Given the description of an element on the screen output the (x, y) to click on. 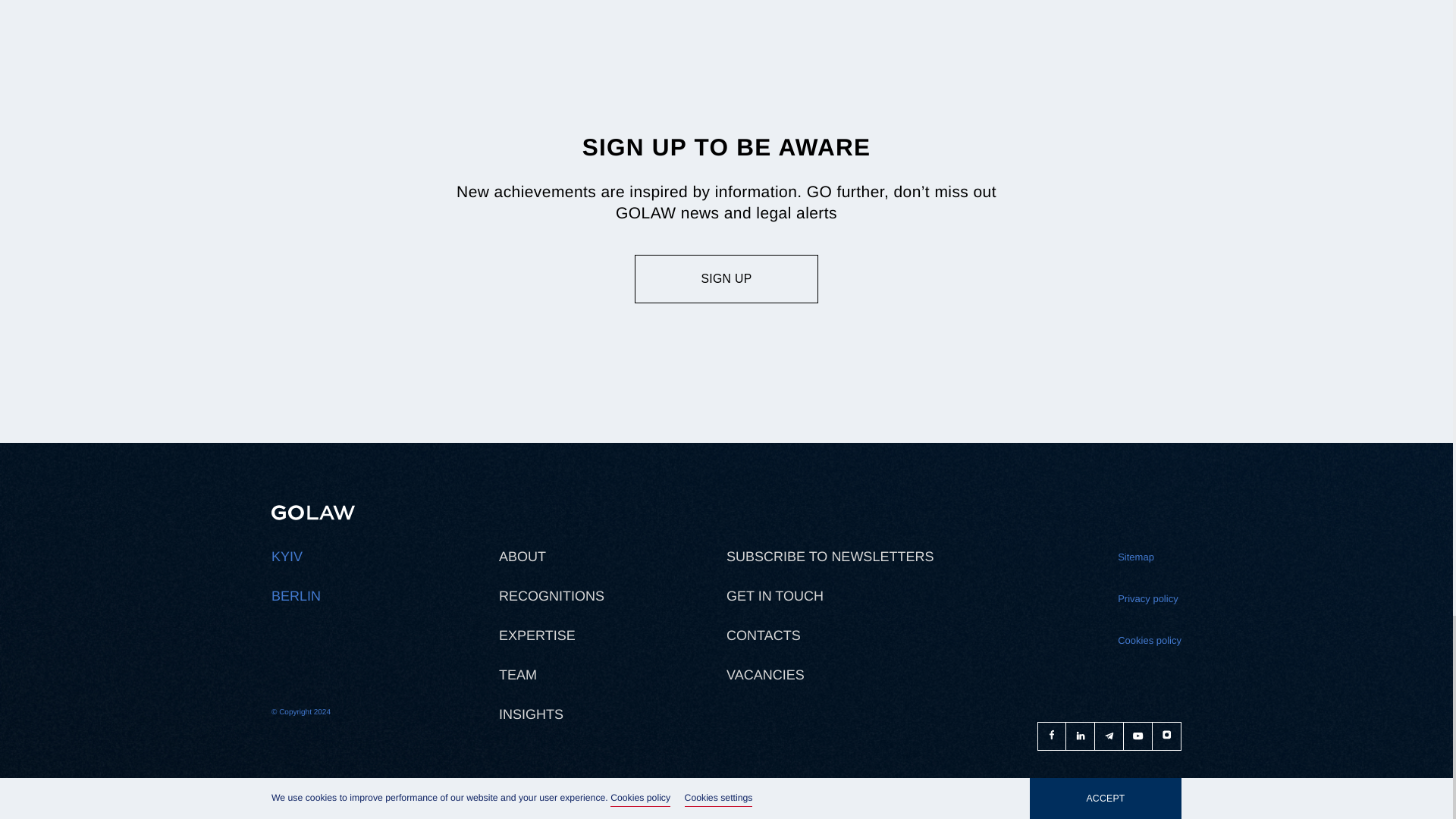
SIGN UP (726, 278)
